Given the description of an element on the screen output the (x, y) to click on. 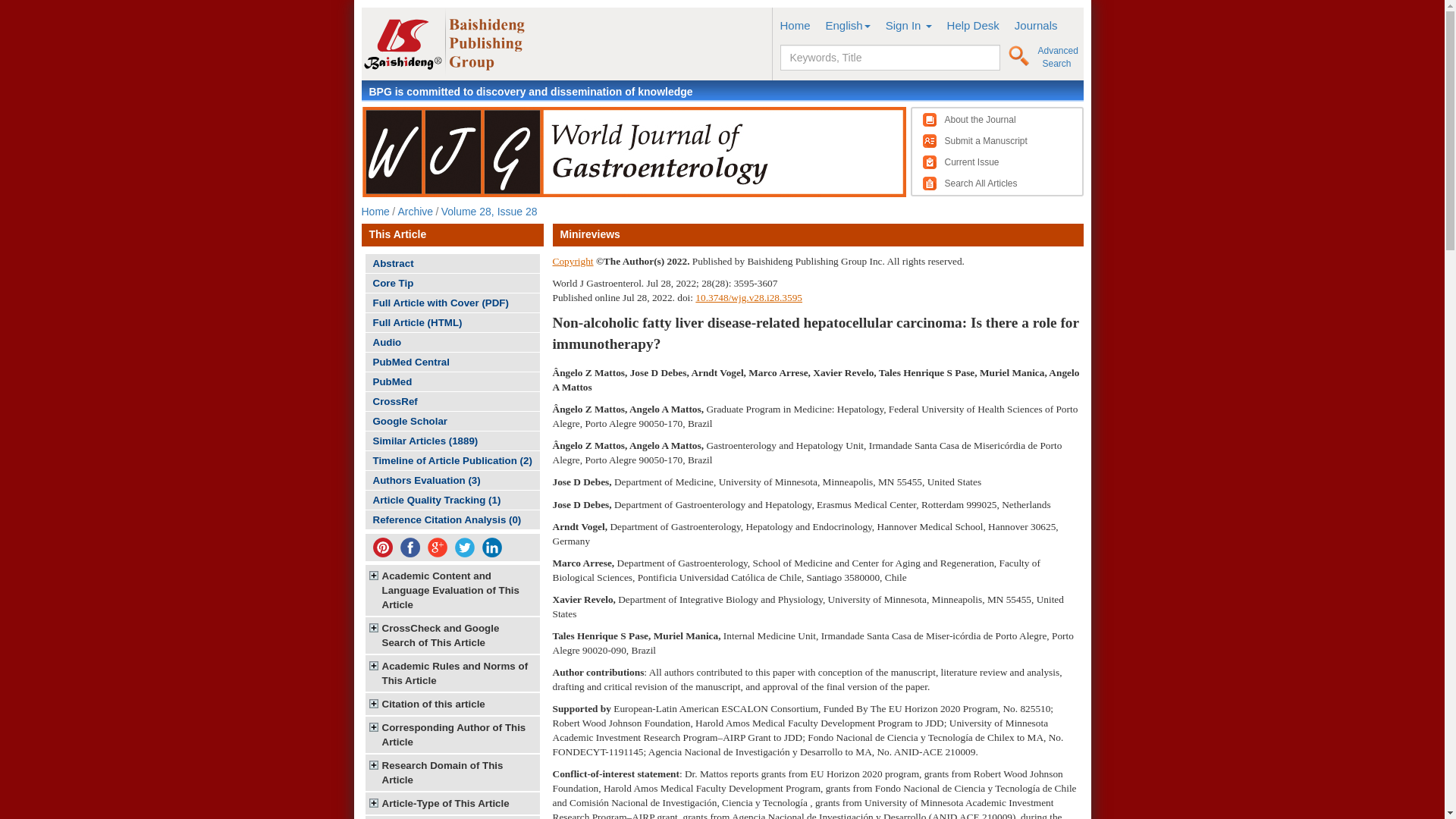
Audio (452, 342)
About the Journal (980, 119)
Advanced Search (1056, 56)
Archive (414, 211)
Volume 28, Issue 28 (489, 211)
Help Desk (972, 24)
Home (793, 24)
Journals (1036, 24)
Core Tip (452, 282)
Home (374, 211)
PubMed (452, 381)
Sign In (908, 24)
Submit a Manuscript (985, 140)
PubMed Central (452, 361)
Current Issue (971, 162)
